Given the description of an element on the screen output the (x, y) to click on. 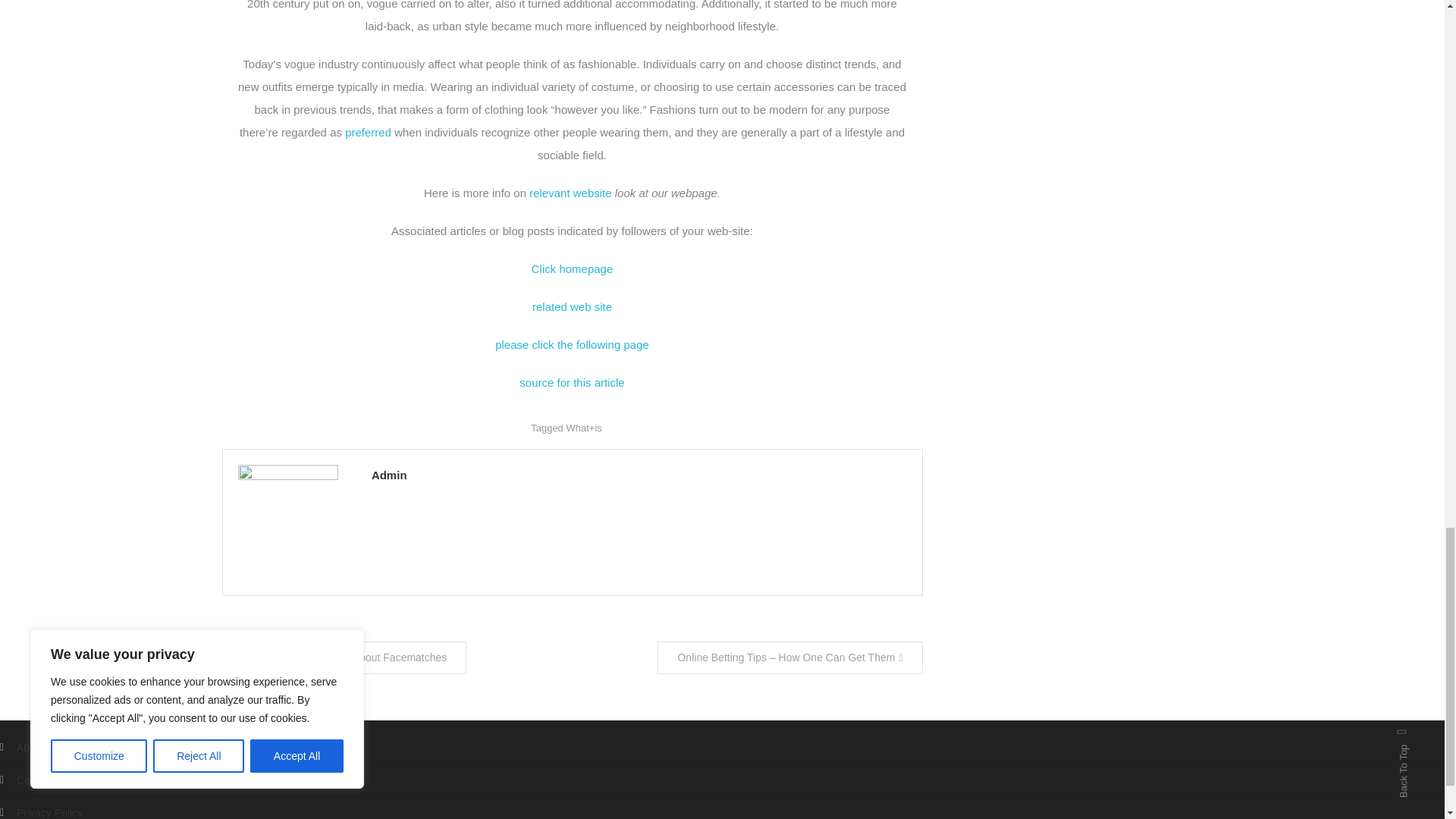
What You Must Know About Facematches (343, 657)
related web site (571, 306)
source for this article (571, 382)
please click the following page (572, 344)
preferred (368, 132)
Admin (639, 475)
relevant website (570, 192)
Click homepage (571, 268)
